Given the description of an element on the screen output the (x, y) to click on. 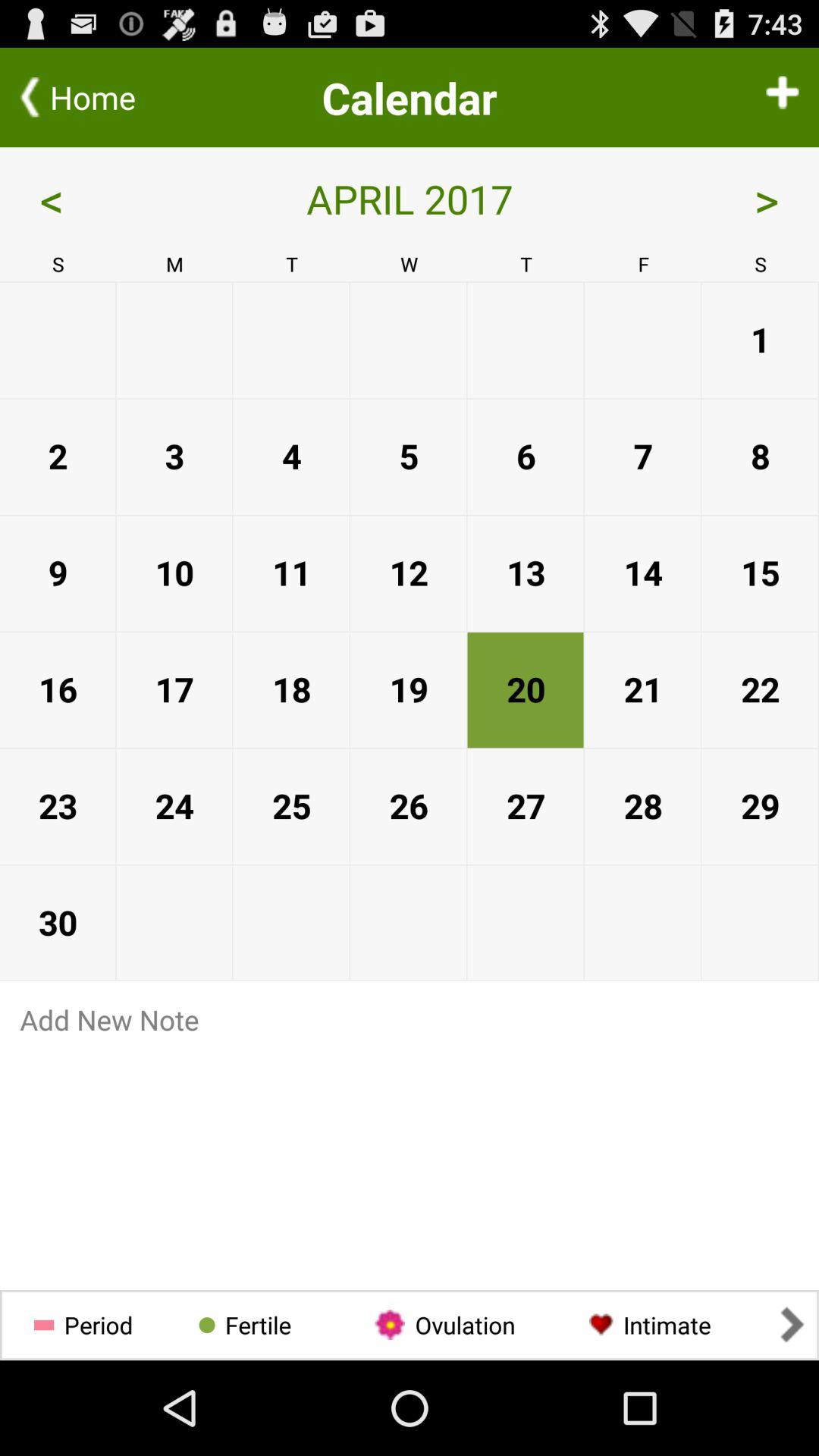
add note button (409, 1019)
